Given the description of an element on the screen output the (x, y) to click on. 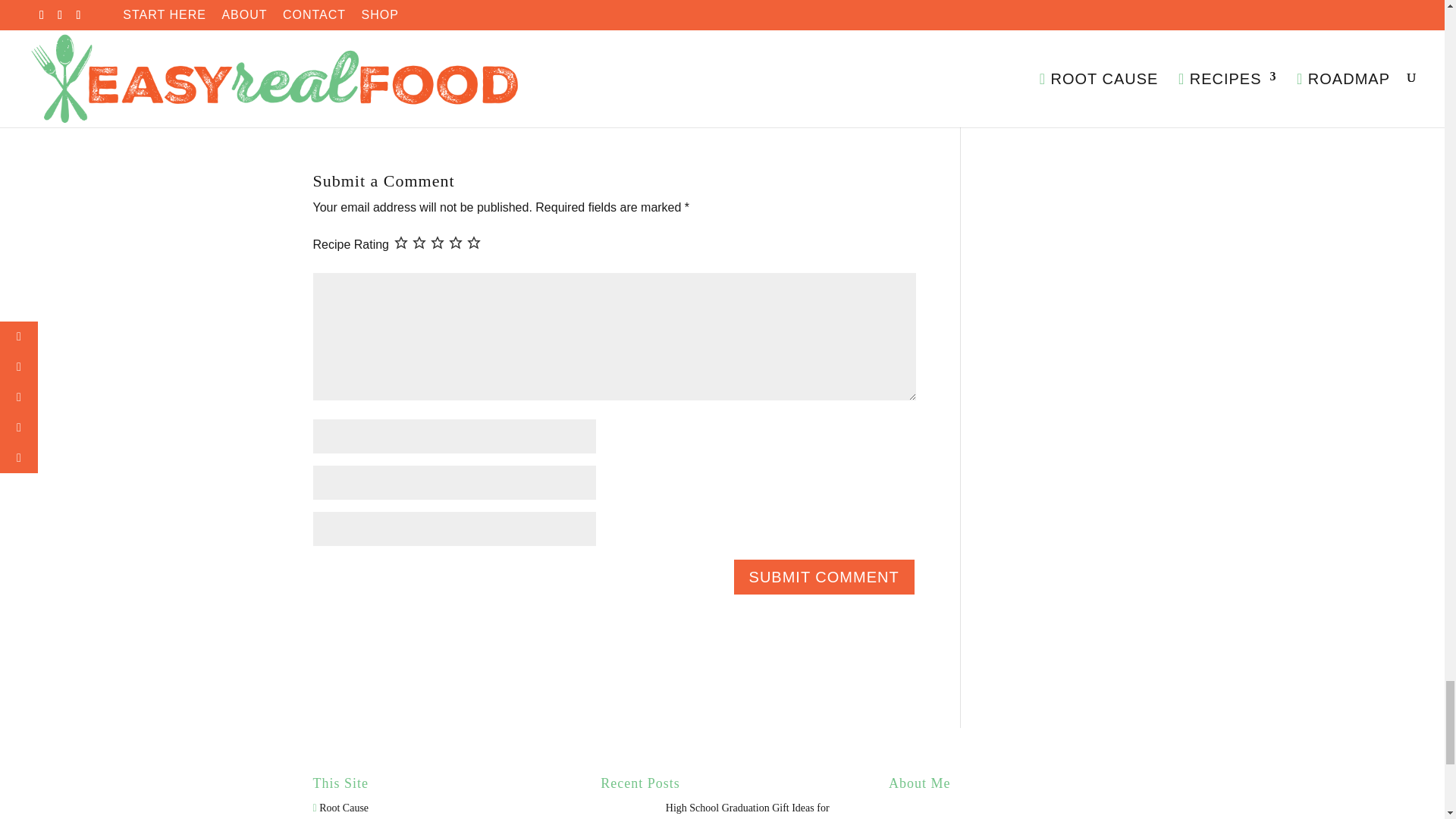
Submit Comment (823, 576)
